Given the description of an element on the screen output the (x, y) to click on. 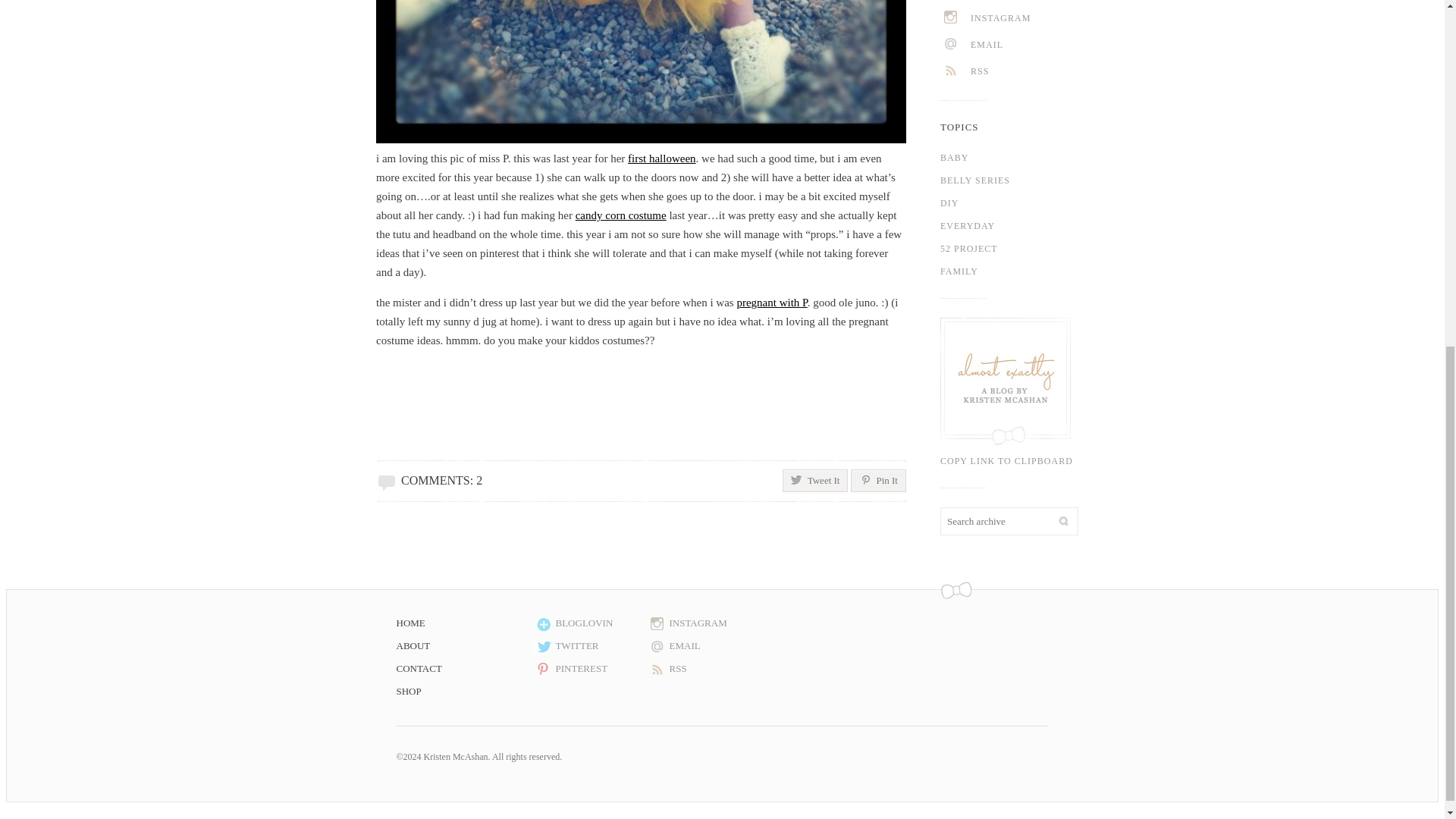
COMMENTS: 2 (441, 480)
INSTAGRAM (1027, 17)
CONTACT (464, 668)
TWITTER (589, 645)
candy corn costume (620, 215)
FAMILY (1021, 271)
pregnant with P (771, 302)
EMAIL (1027, 44)
DIY (1021, 202)
Pin It (877, 480)
